Given the description of an element on the screen output the (x, y) to click on. 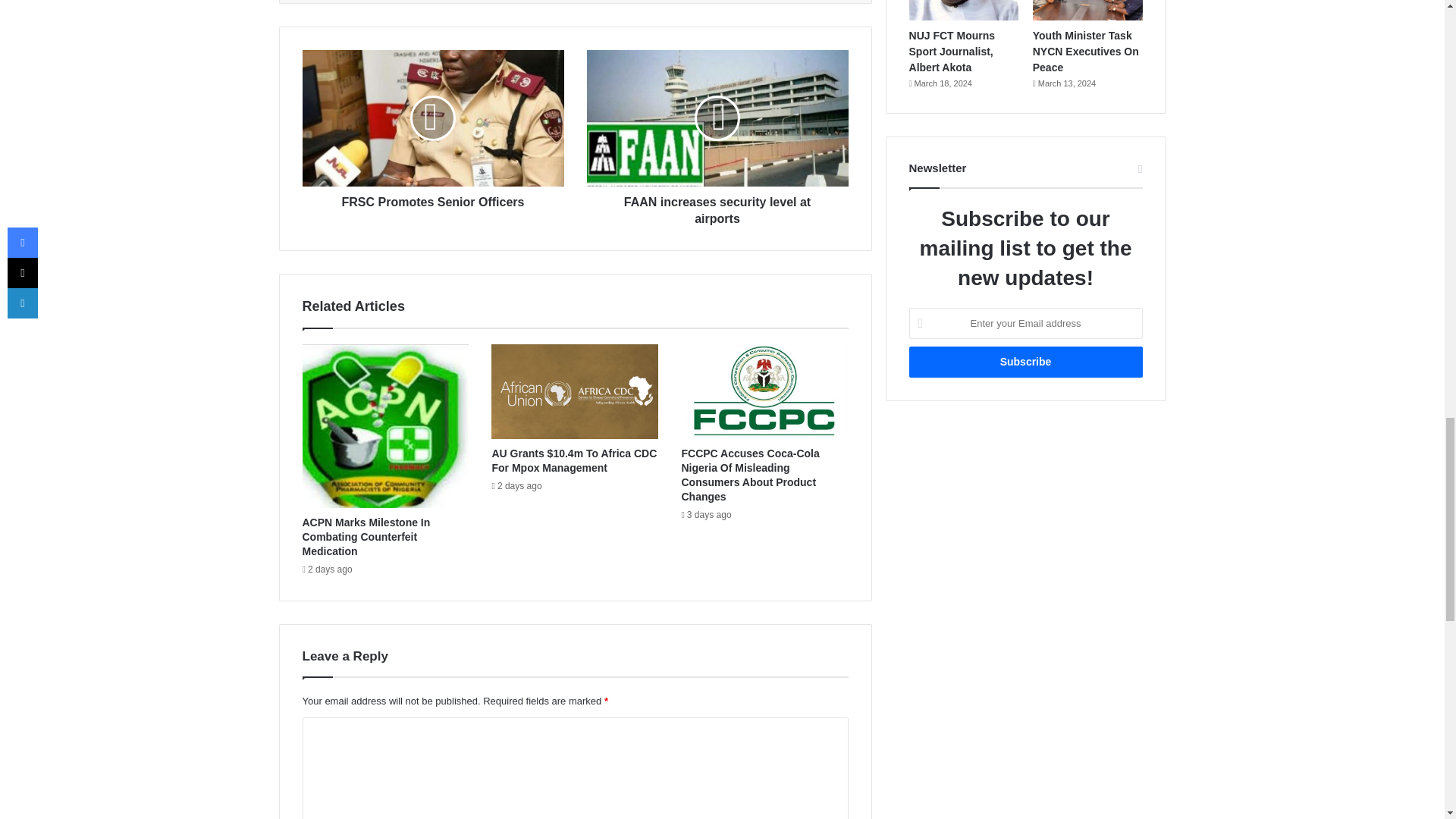
Subscribe (1025, 361)
